Given the description of an element on the screen output the (x, y) to click on. 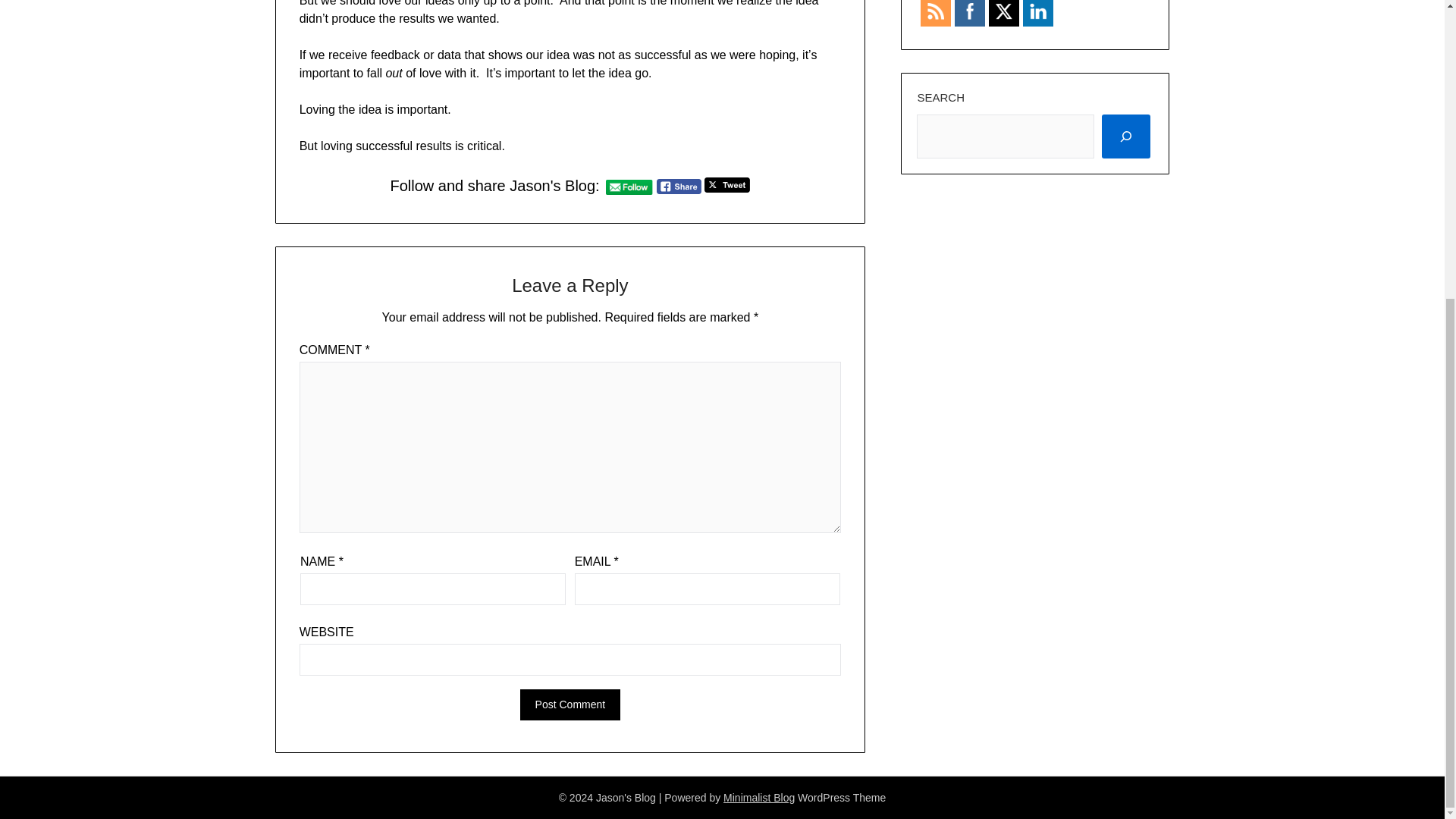
LinkedIn (1037, 11)
Facebook (969, 11)
Post Comment (570, 704)
Tweet (726, 184)
RSS (935, 11)
Facebook Share (678, 186)
Twitter (1003, 11)
Post Comment (570, 704)
Minimalist Blog (758, 797)
